Given the description of an element on the screen output the (x, y) to click on. 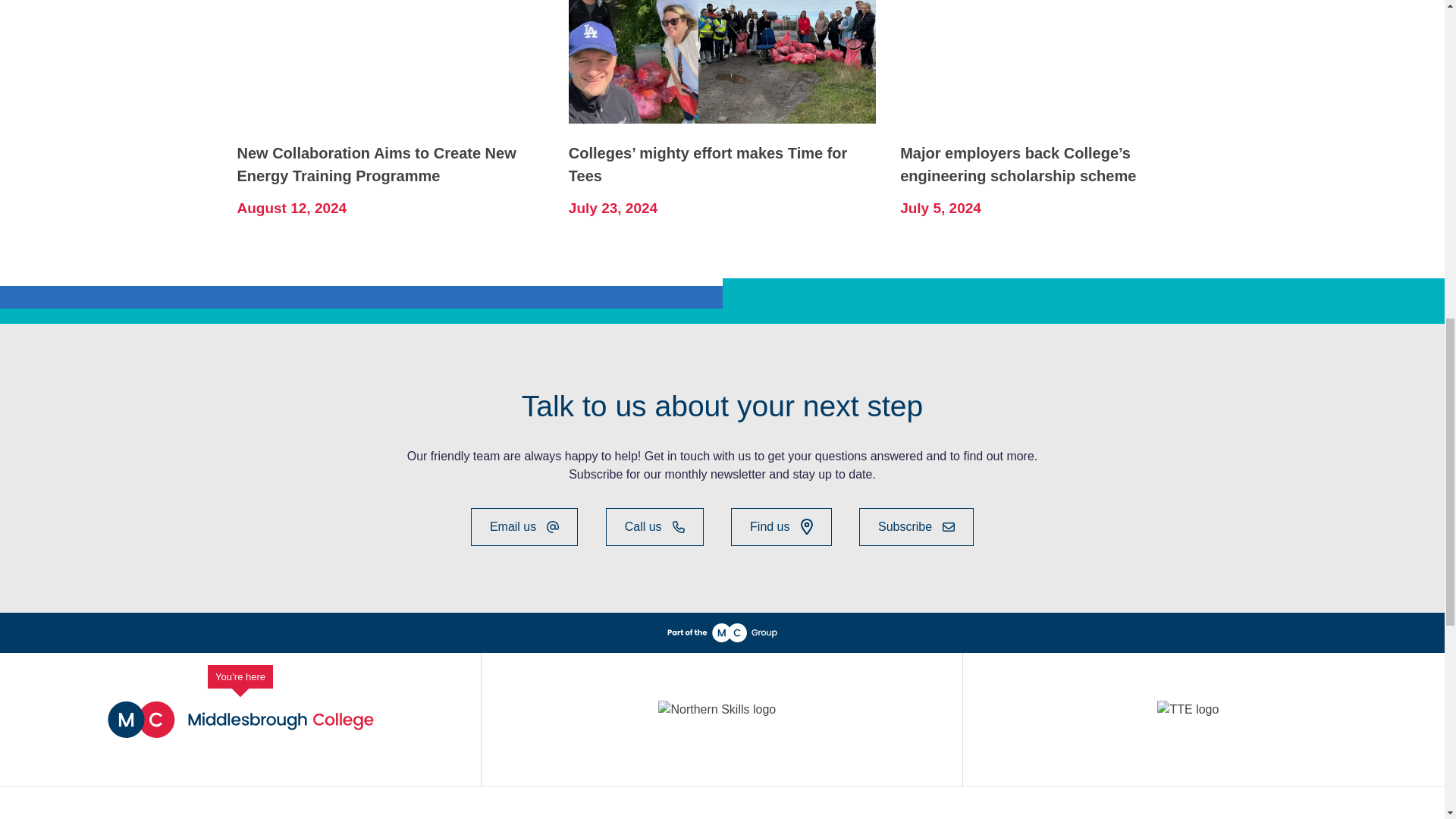
TTE Logo (1203, 719)
Northern Skills logo (721, 719)
Middlesbrough College logo (240, 719)
